Given the description of an element on the screen output the (x, y) to click on. 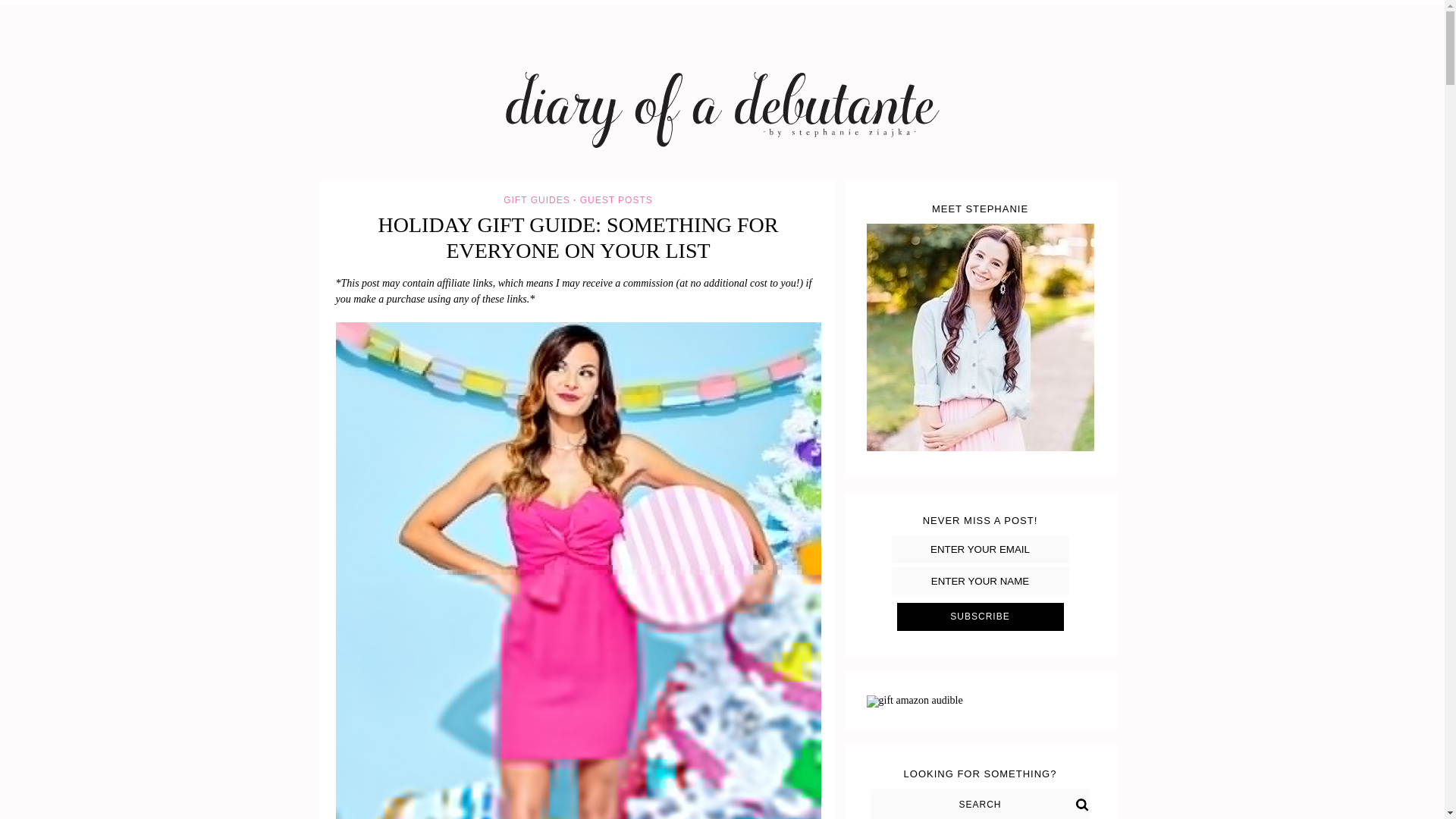
ENTER YOUR EMAIL (979, 549)
ENTER YOUR NAME (979, 581)
LIVING (758, 2)
HOLIDAYS (687, 2)
SEARCH (980, 803)
Subscribe (979, 616)
STYLE (518, 2)
ENTERTAINING (599, 2)
ABOUT (457, 2)
